Given the description of an element on the screen output the (x, y) to click on. 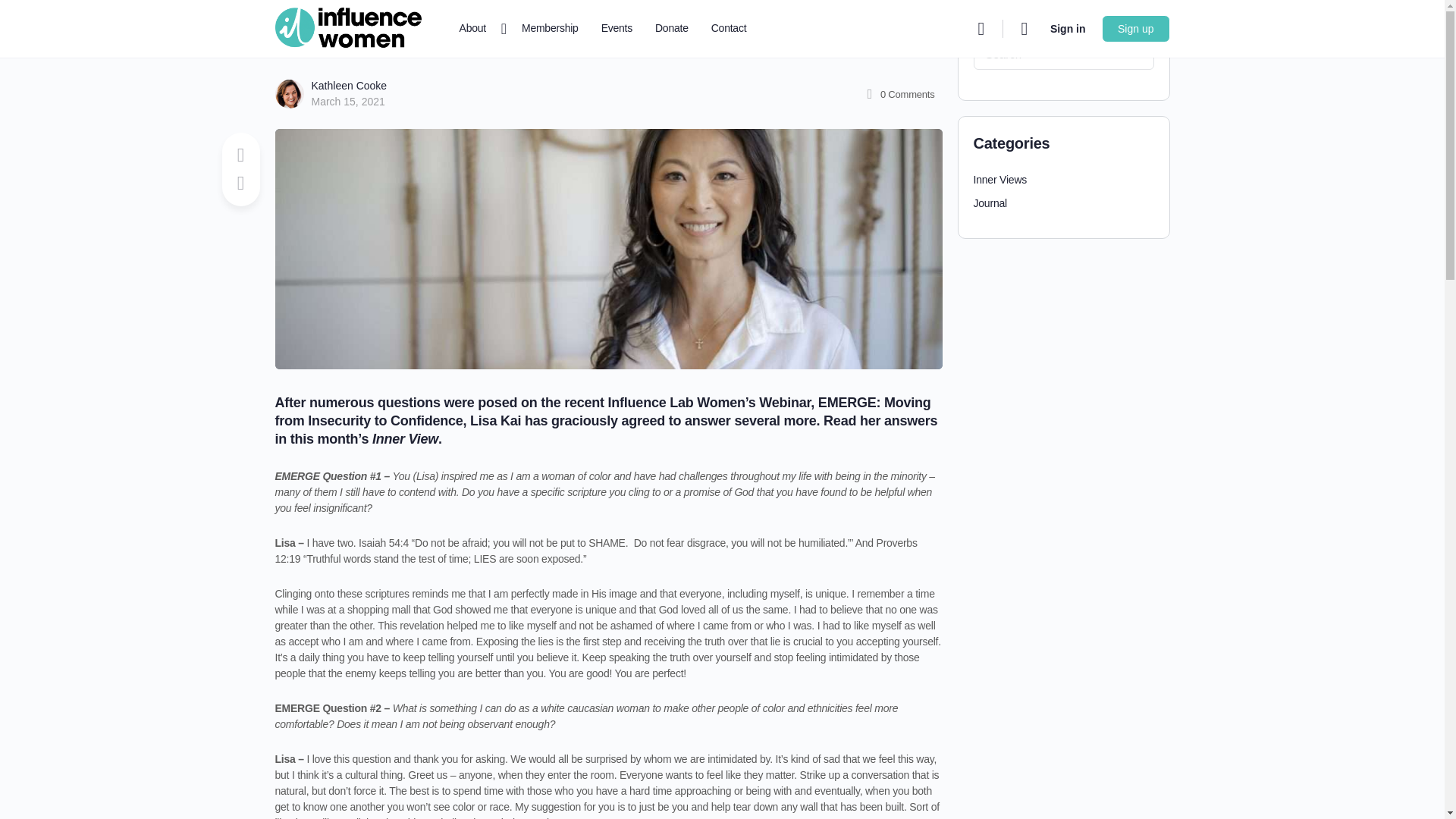
About (478, 28)
0 Comments (899, 94)
Donate (671, 28)
Sign in (1067, 28)
Membership (549, 28)
Sign up (1135, 28)
Events (617, 28)
Contact (728, 28)
Kathleen Cooke (349, 85)
March 15, 2021 (347, 101)
